Given the description of an element on the screen output the (x, y) to click on. 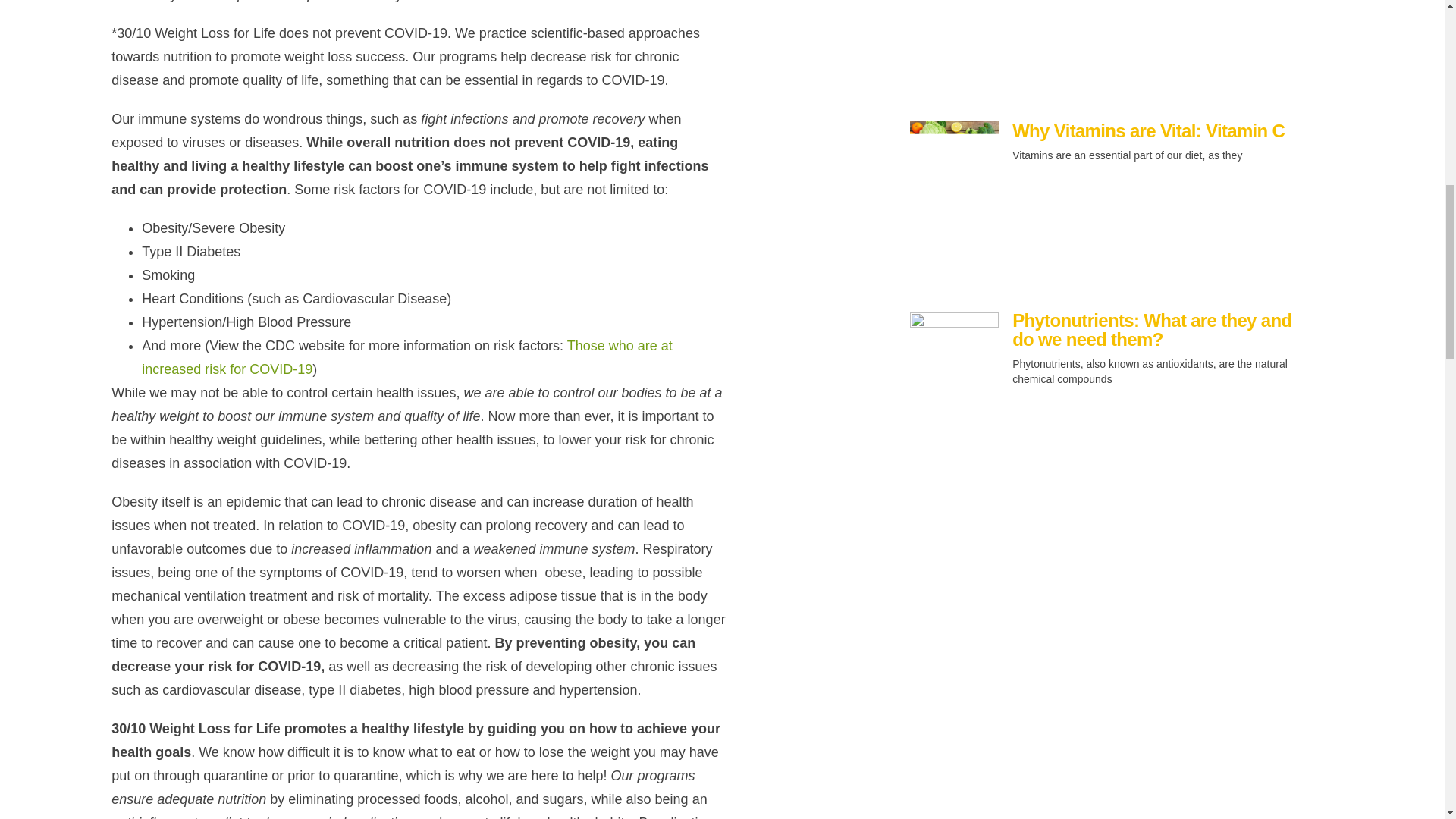
Those who are at increased risk for COVID-19 (406, 357)
Why Vitamins are Vital: Vitamin C (1147, 130)
Phytonutrients: What are they and do we need them? (1151, 329)
